Given the description of an element on the screen output the (x, y) to click on. 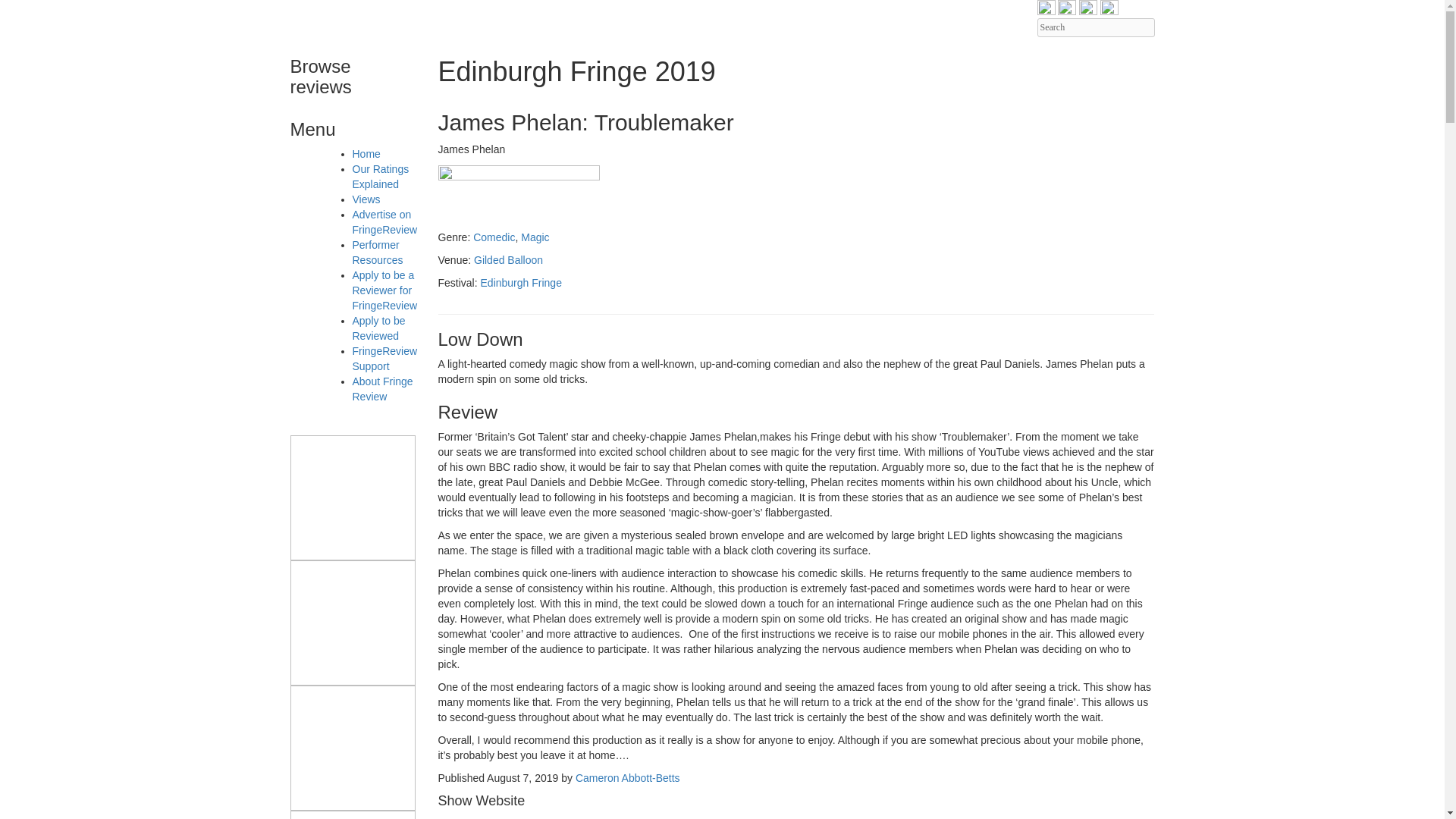
Home (366, 153)
Apply to be a Reviewer for FringeReview (384, 290)
Apply to be Reviewed (378, 328)
Comedic (494, 236)
Cameron Abbott-Betts (627, 777)
Gilded Balloon (508, 259)
Performer Resources (377, 252)
Magic (534, 236)
Views (366, 199)
About Fringe Review (382, 388)
Search (1095, 27)
FringeReview Support (384, 358)
Search (1095, 27)
Edinburgh Fringe (521, 282)
Advertise on FringeReview (384, 221)
